Given the description of an element on the screen output the (x, y) to click on. 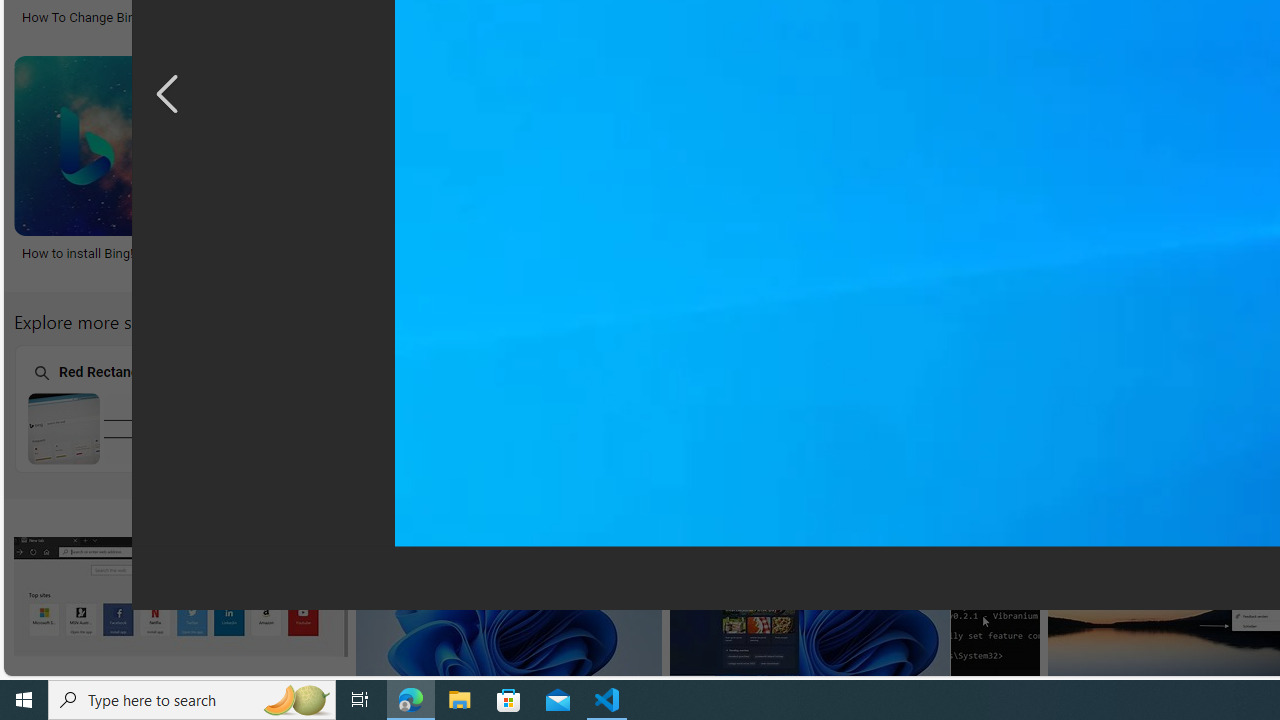
How to install Bing! (162, 253)
How to Use Bing Visual Search on Windows Search BarSave (771, 169)
